Given the description of an element on the screen output the (x, y) to click on. 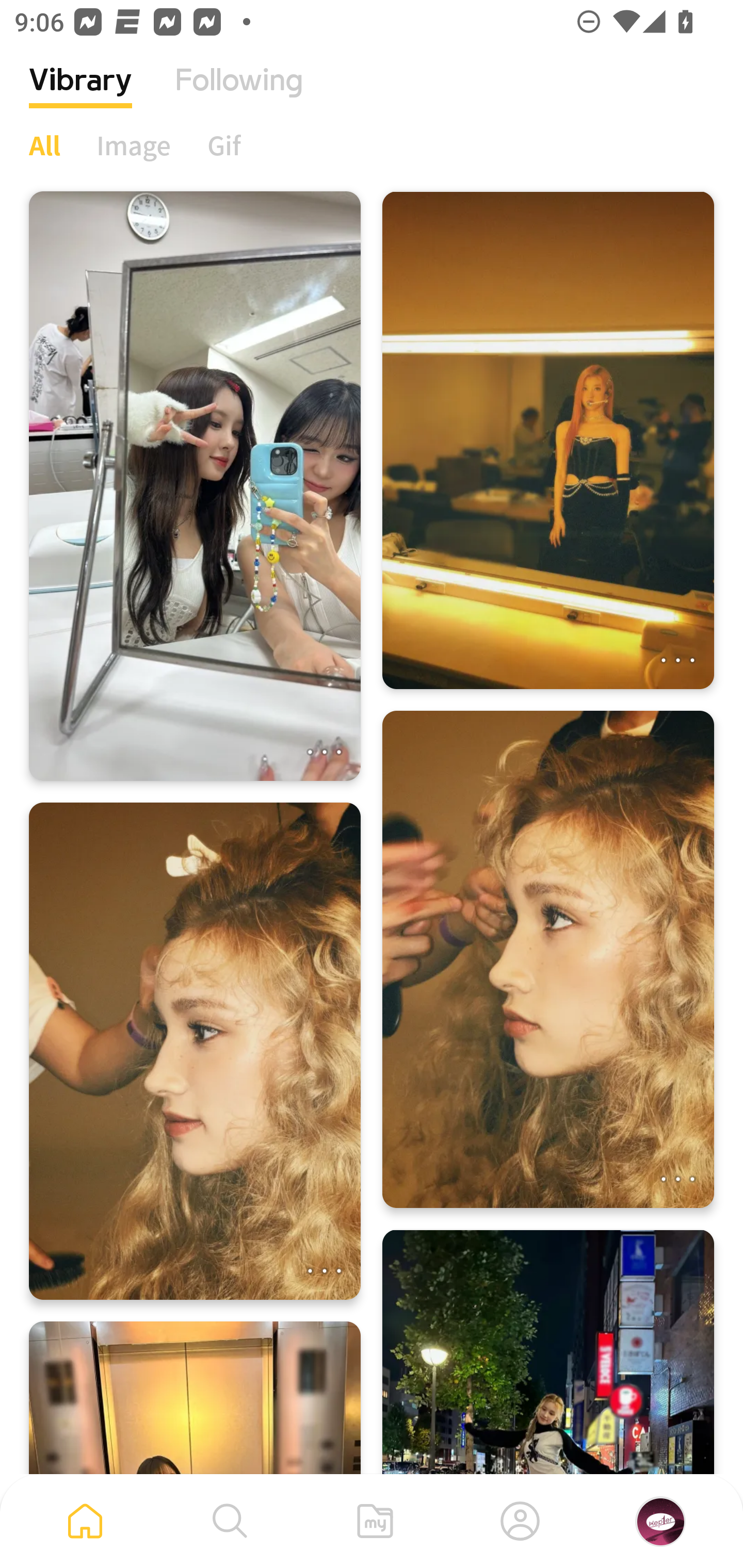
Vibrary (80, 95)
Following (239, 95)
All (44, 145)
Image (133, 145)
Gif (223, 145)
